Given the description of an element on the screen output the (x, y) to click on. 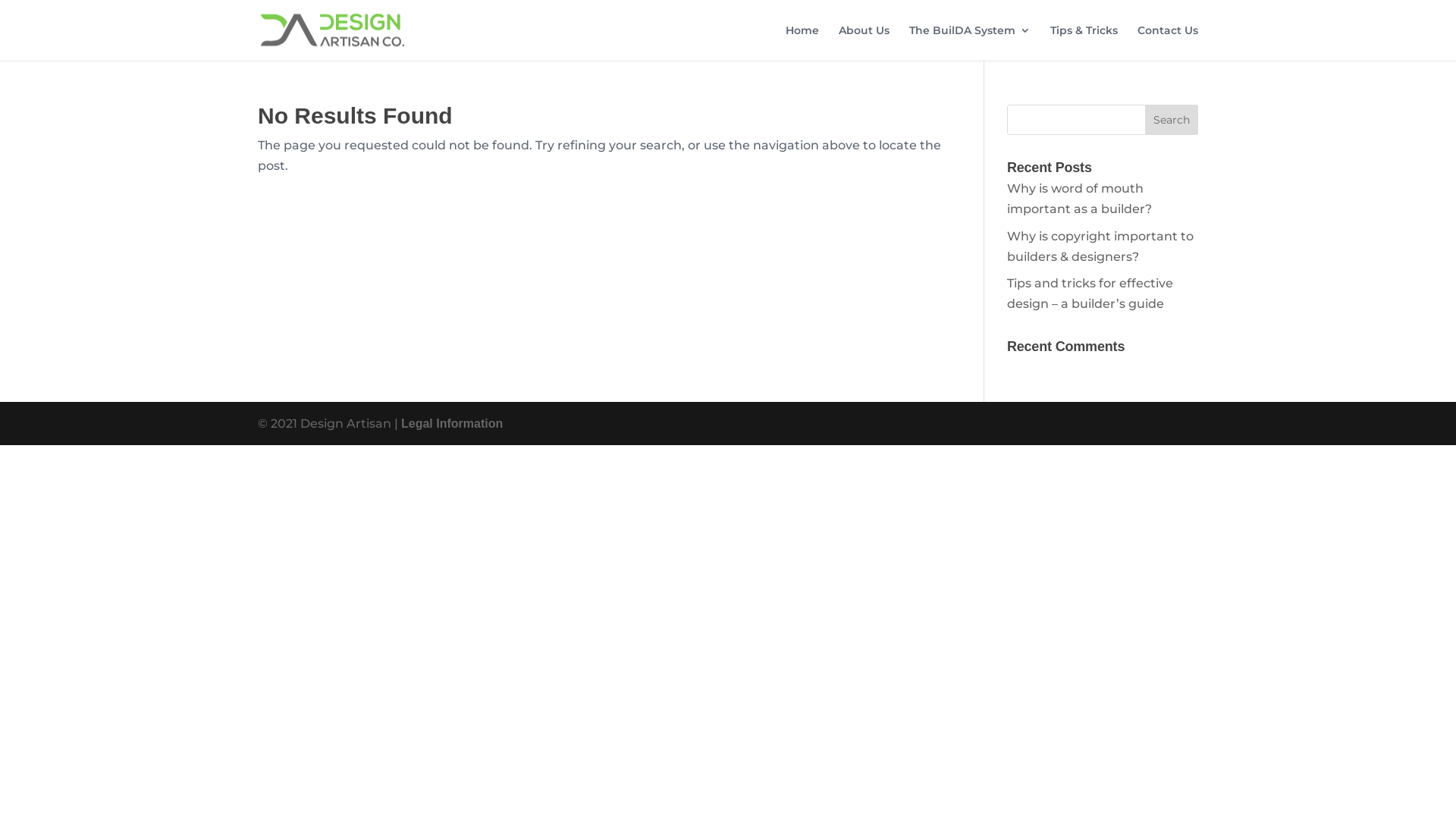
Legal Information Element type: text (451, 423)
Search Element type: text (1171, 119)
Tips & Tricks Element type: text (1083, 42)
About Us Element type: text (863, 42)
The BuilDA System Element type: text (969, 42)
Why is copyright important to builders & designers? Element type: text (1100, 246)
Why is word of mouth important as a builder? Element type: text (1079, 198)
Contact Us Element type: text (1167, 42)
Home Element type: text (802, 42)
